Given the description of an element on the screen output the (x, y) to click on. 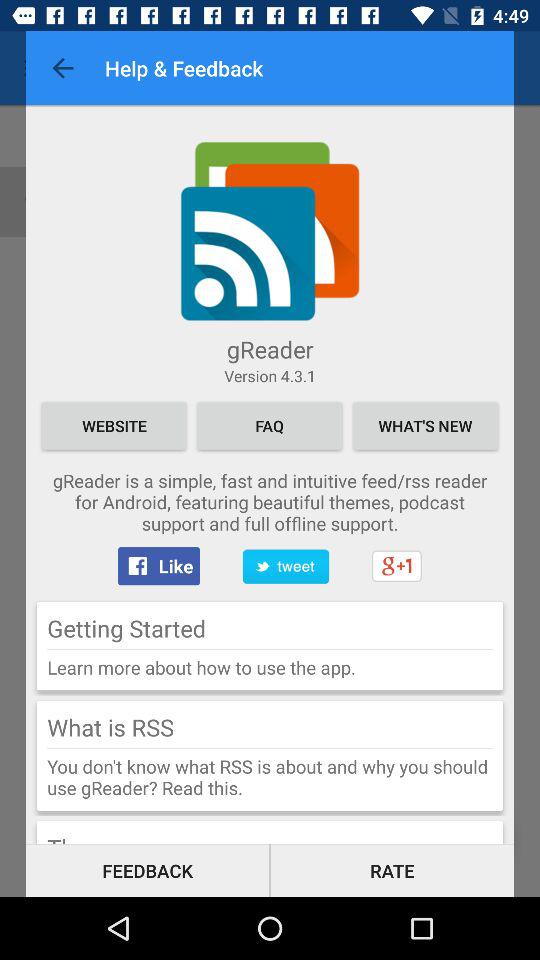
turn off icon to the left of what's new icon (269, 425)
